Given the description of an element on the screen output the (x, y) to click on. 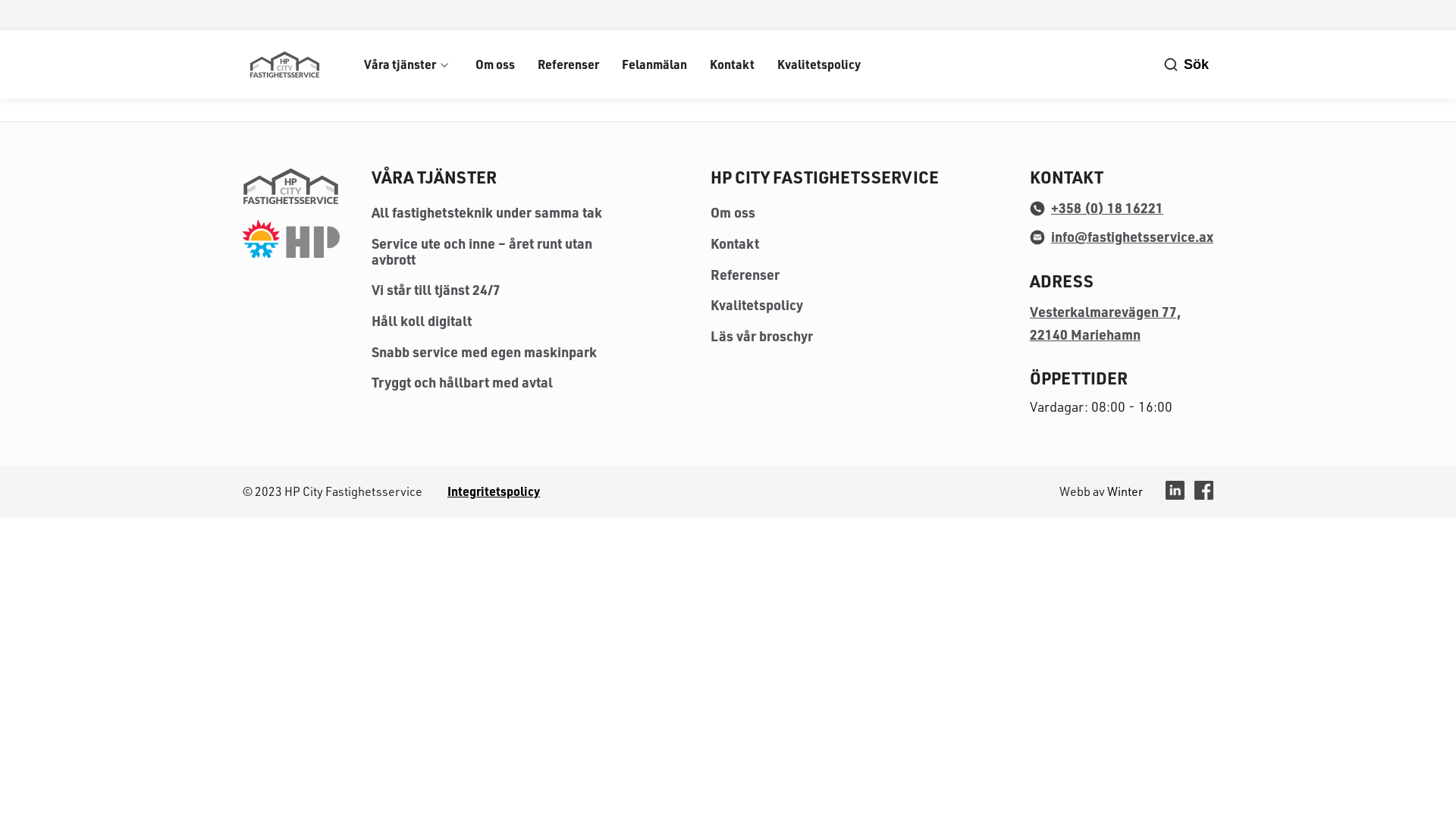
Kontakt Element type: text (731, 64)
Kvalitetspolicy Element type: text (818, 64)
Om oss Element type: text (732, 212)
Referenser Element type: text (568, 64)
Kontakt Element type: text (734, 243)
HP City Fastighetsservice Element type: text (284, 64)
info@fastighetsservice.ax Element type: text (1121, 236)
HP City Fastighetsservice Element type: text (295, 185)
All fastighetsteknik under samma tak Element type: text (486, 212)
+358 (0) 18 16221 Element type: text (1096, 207)
Integritetspolicy Element type: text (493, 490)
Snabb service med egen maskinpark Element type: text (483, 351)
Kvalitetspolicy Element type: text (756, 304)
Winter Element type: text (1124, 490)
Referenser Element type: text (744, 274)
Om oss Element type: text (494, 64)
